Given the description of an element on the screen output the (x, y) to click on. 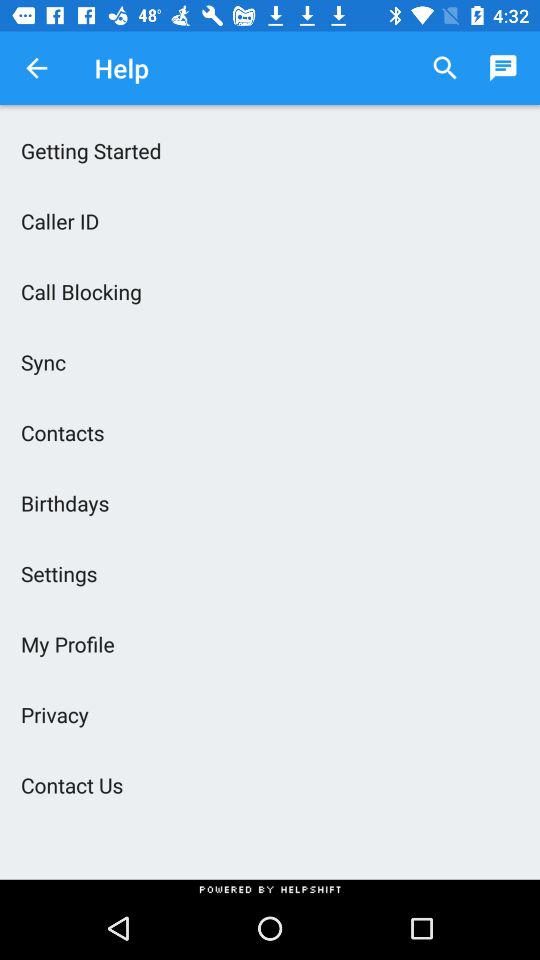
select privacy icon (270, 714)
